Given the description of an element on the screen output the (x, y) to click on. 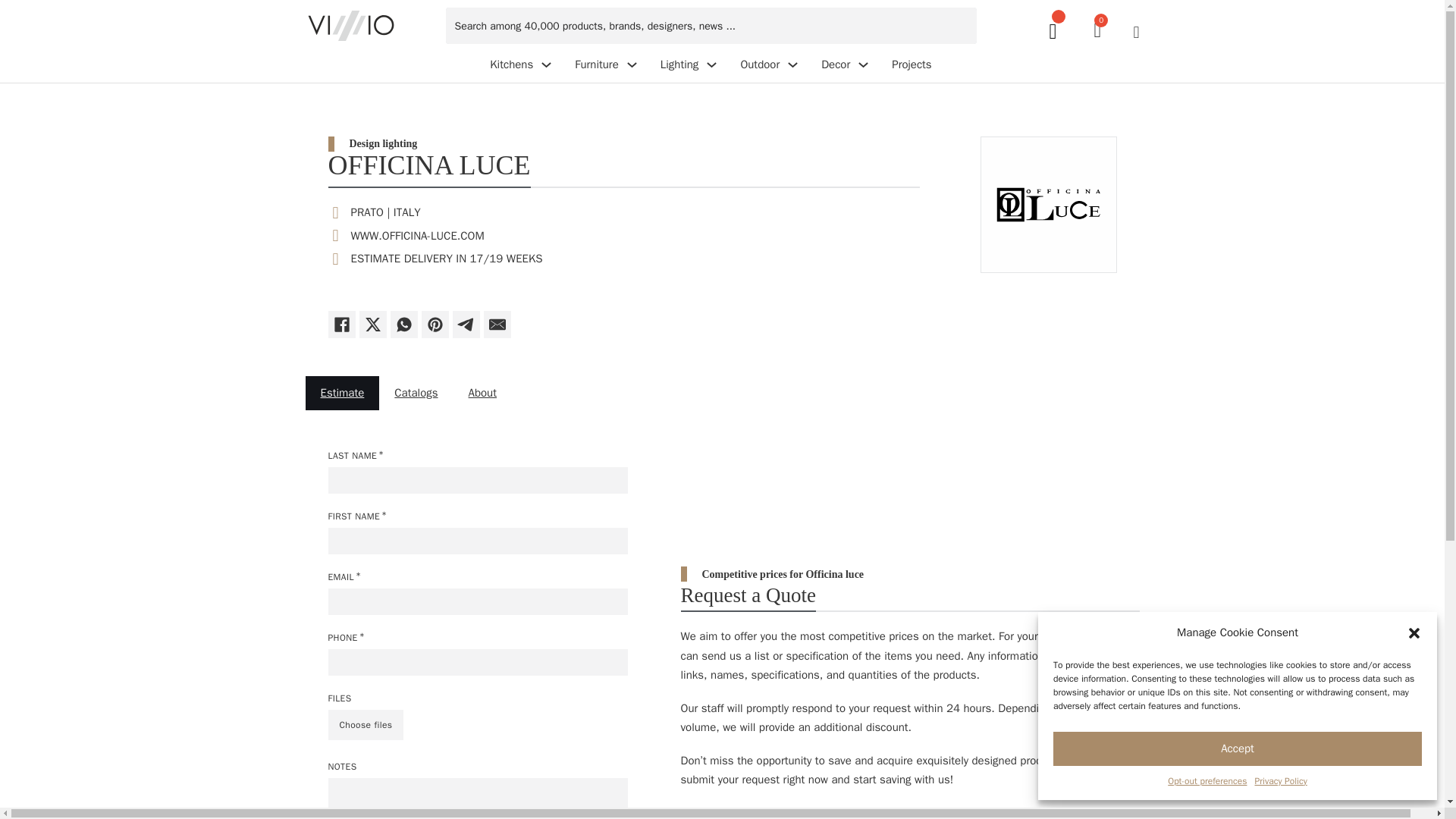
Kitchens (1279, 780)
Accept (510, 65)
Opt-out preferences (1237, 748)
0 (1206, 780)
